Given the description of an element on the screen output the (x, y) to click on. 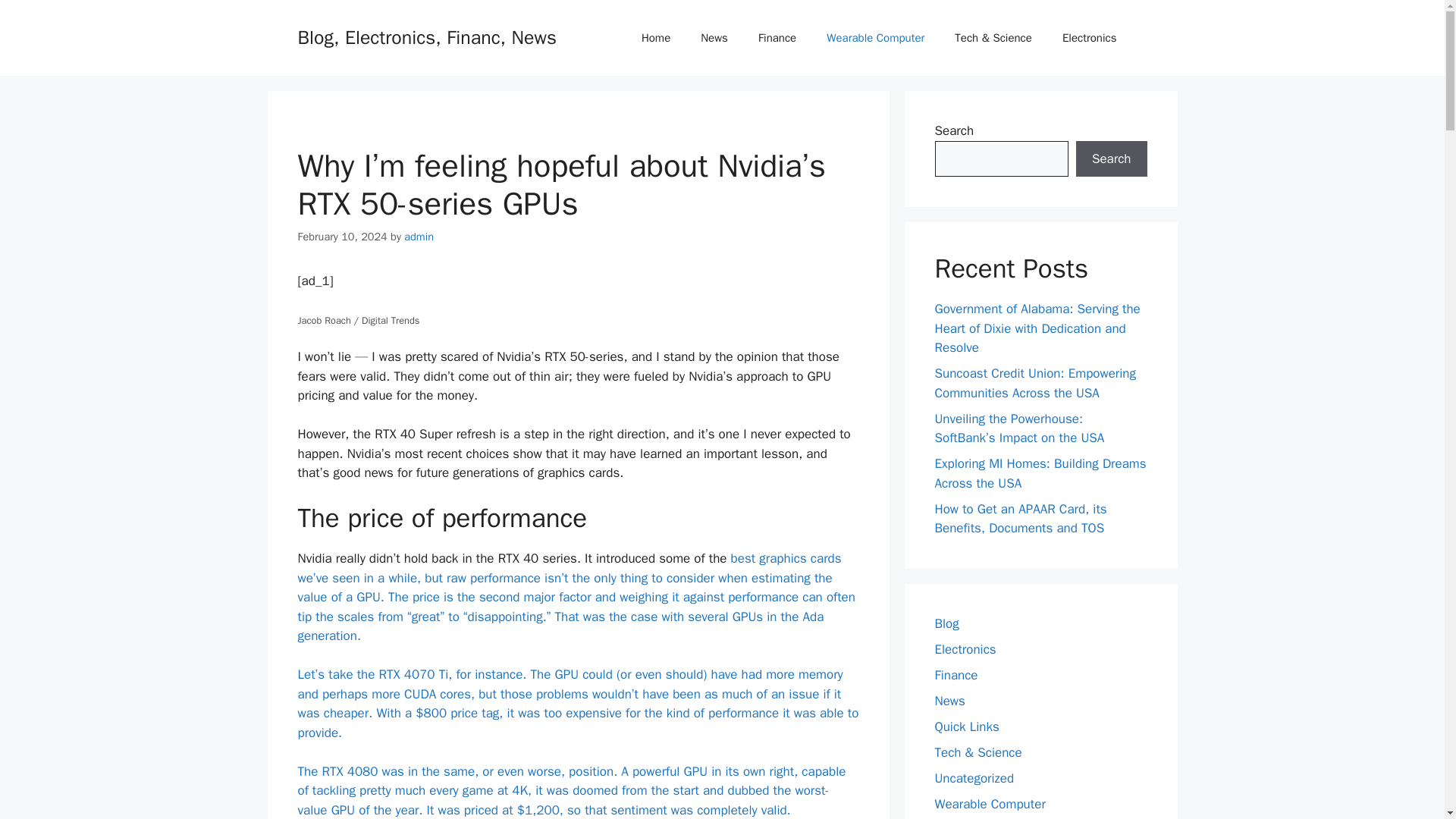
Home (655, 37)
News (948, 700)
Wearable Computer (874, 37)
Finance (955, 675)
News (713, 37)
Suncoast Credit Union: Empowering Communities Across the USA (1034, 383)
How to Get an APAAR Card, its Benefits, Documents and TOS (1020, 518)
Exploring MI Homes: Building Dreams Across the USA (1039, 473)
View all posts by admin (418, 236)
Electronics (1089, 37)
Search (1111, 158)
Finance (776, 37)
Electronics (964, 649)
admin (418, 236)
